Given the description of an element on the screen output the (x, y) to click on. 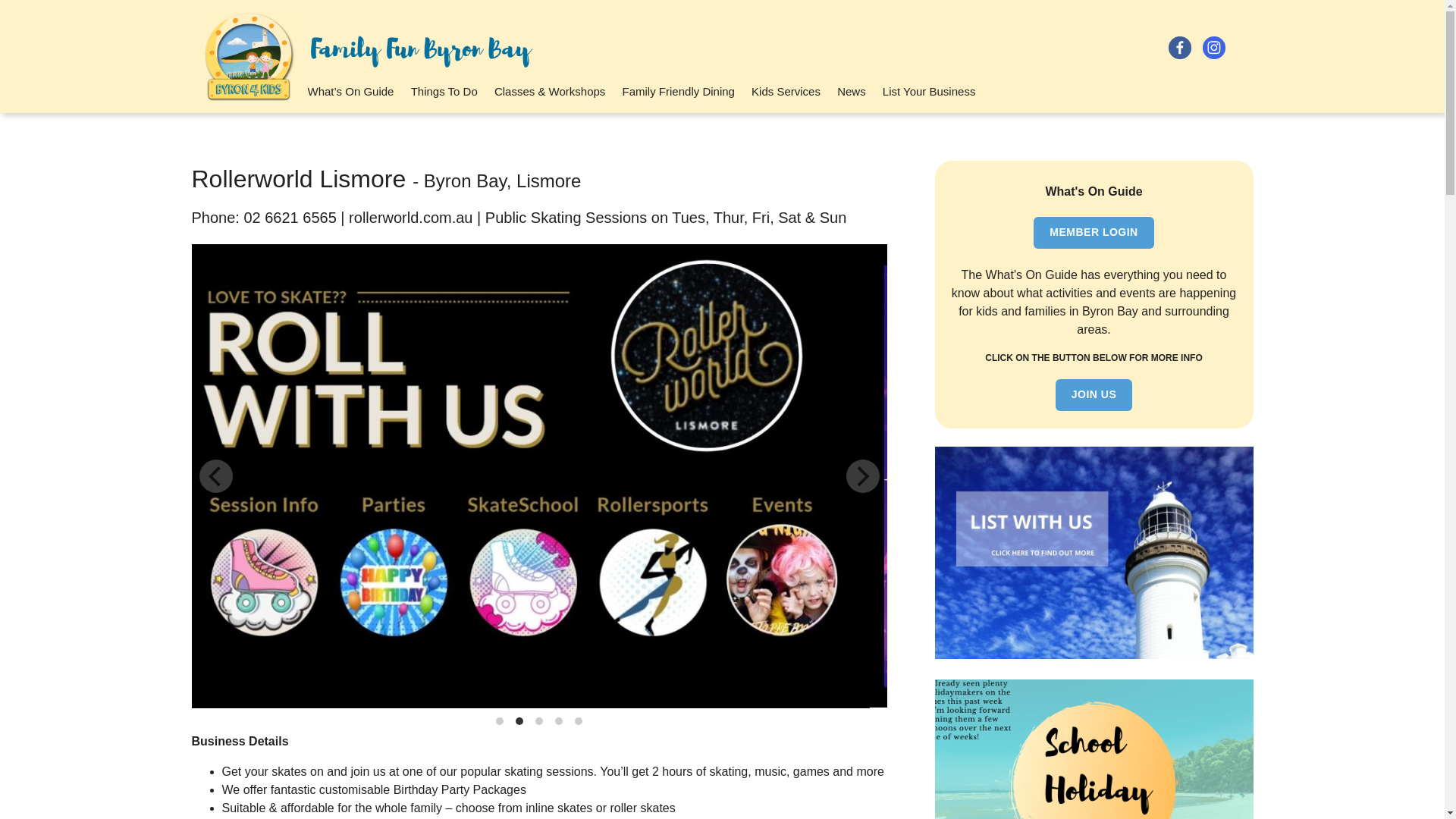
Family Friendly Dining (678, 91)
Kids Services (785, 91)
News (850, 91)
List Your Business (929, 91)
Things To Do (444, 91)
